Given the description of an element on the screen output the (x, y) to click on. 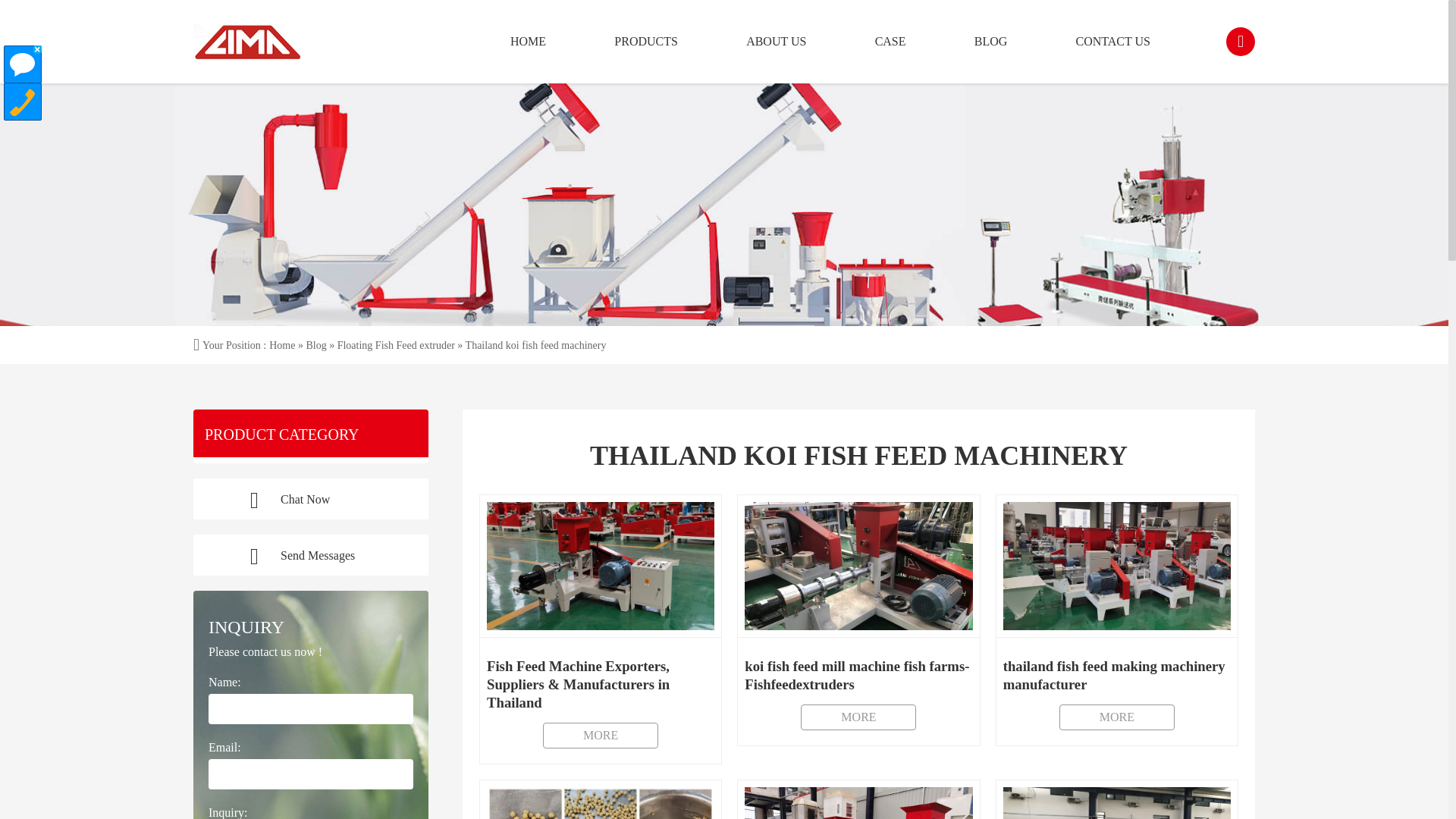
Blog (315, 345)
Thailand koi fish feed machinery (600, 629)
Chat Now (310, 498)
CONTACT US (1113, 41)
Products (646, 41)
Thailand koi fish feed machinery (1116, 620)
Send Messages (310, 554)
CASE (1116, 620)
Contact US (858, 620)
Blog (890, 41)
Floating Fish feed machine (1113, 41)
